Given the description of an element on the screen output the (x, y) to click on. 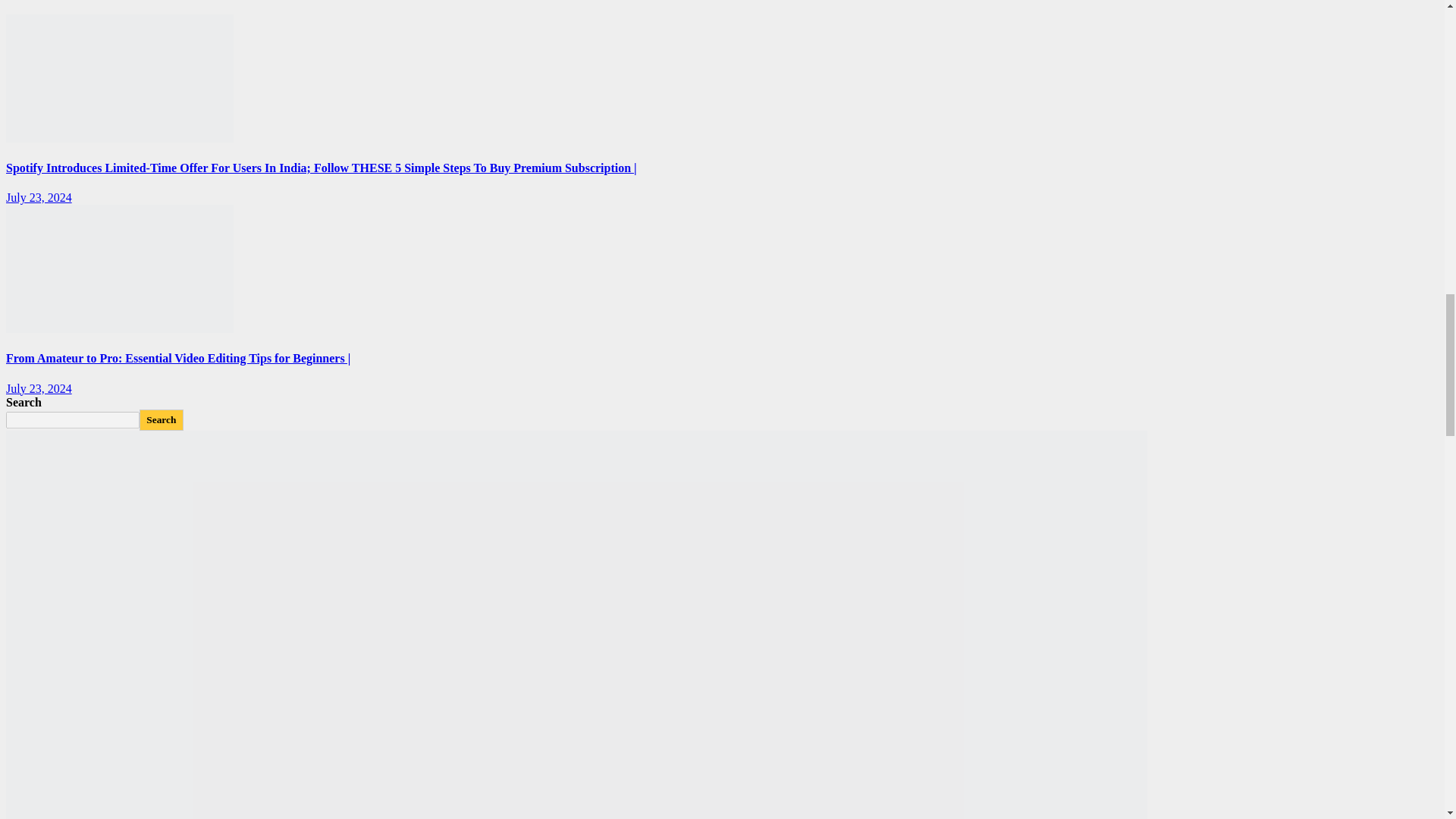
Search (161, 419)
July 23, 2024 (38, 196)
July 23, 2024 (38, 388)
